Given the description of an element on the screen output the (x, y) to click on. 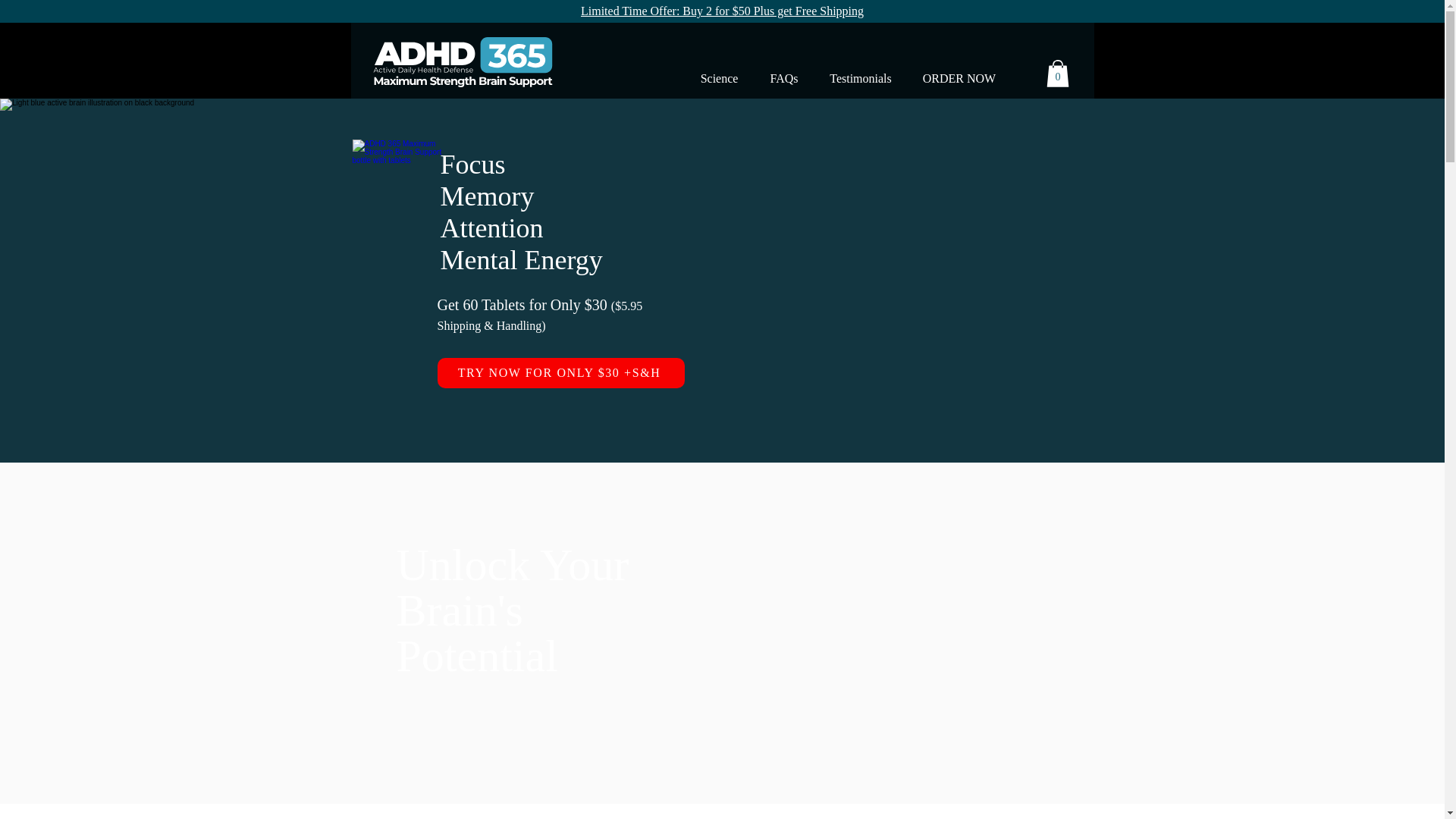
0 Element type: text (1057, 73)
Science Element type: text (718, 78)
Limited Time Offer: Buy 2 for $50 Plus get Free Shipping Element type: text (721, 10)
TRY NOW FOR ONLY $30 +S&H Element type: text (560, 372)
ORDER NOW Element type: text (958, 78)
FAQs Element type: text (783, 78)
Testimonials Element type: text (860, 78)
